Given the description of an element on the screen output the (x, y) to click on. 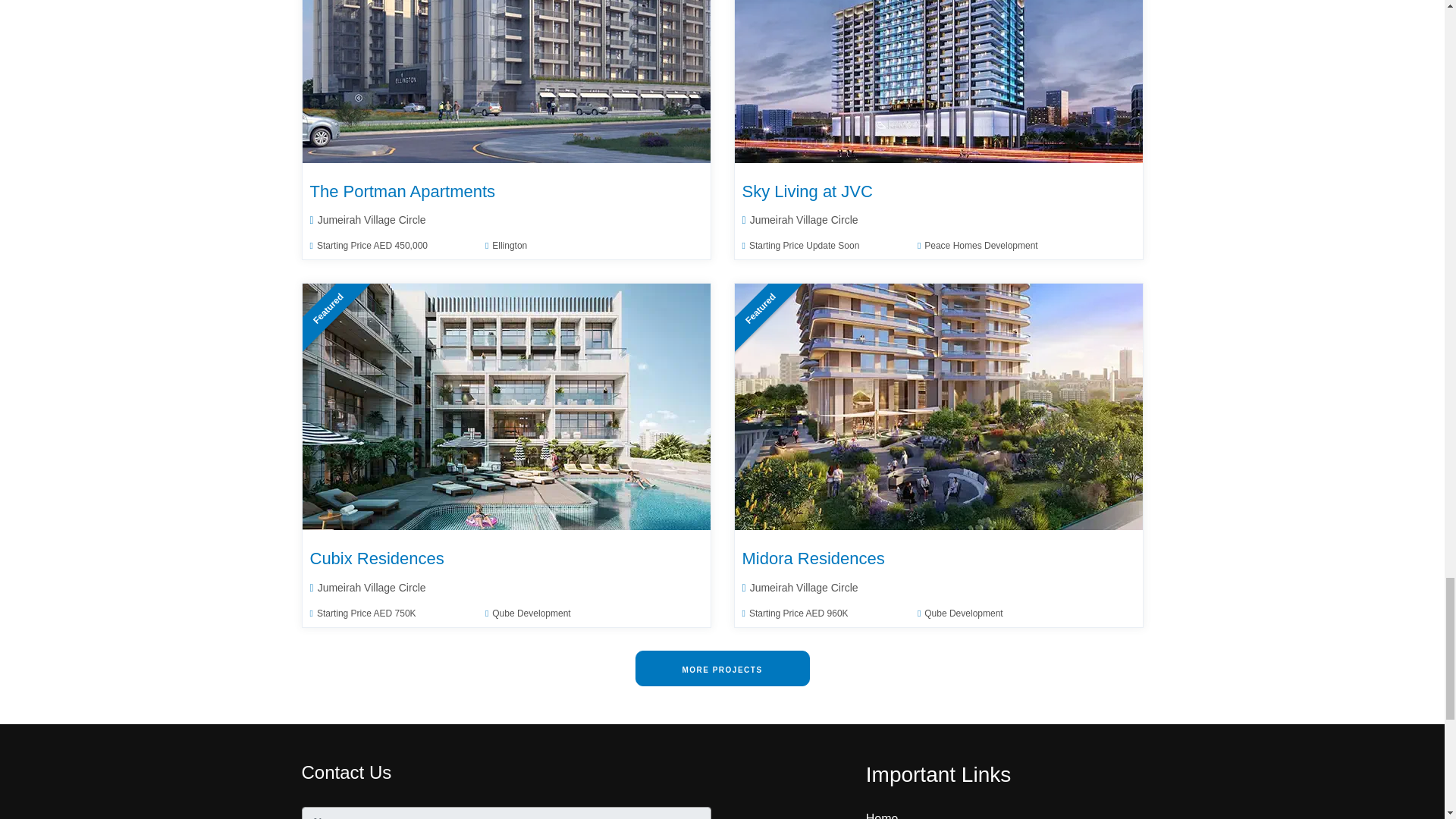
Midora Residences (938, 406)
Sky Living at JVC (938, 81)
The Portman Apartments (506, 81)
Cubix Residences (506, 406)
